Given the description of an element on the screen output the (x, y) to click on. 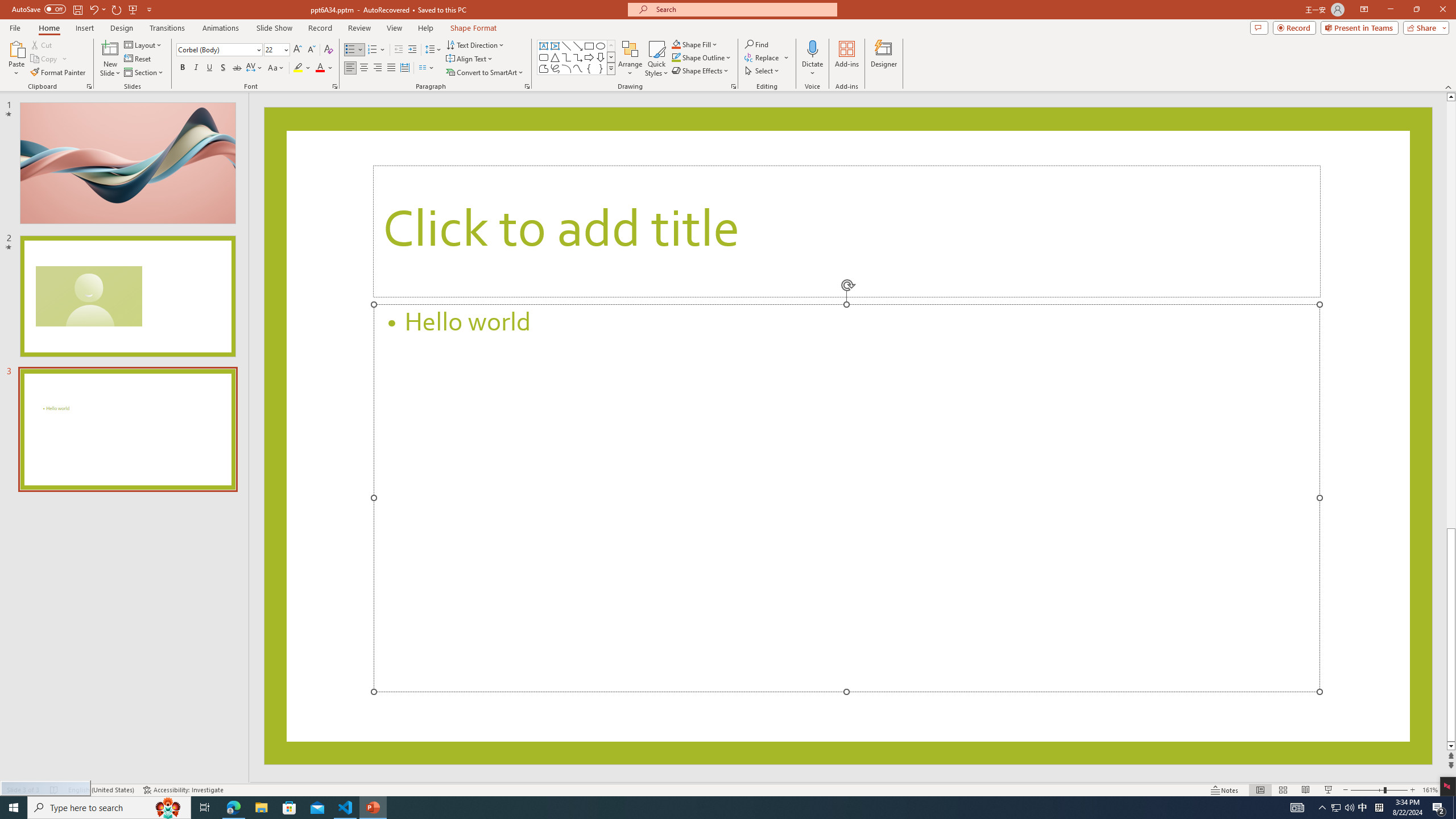
Shape Fill Red, Accent 2 (675, 44)
